Given the description of an element on the screen output the (x, y) to click on. 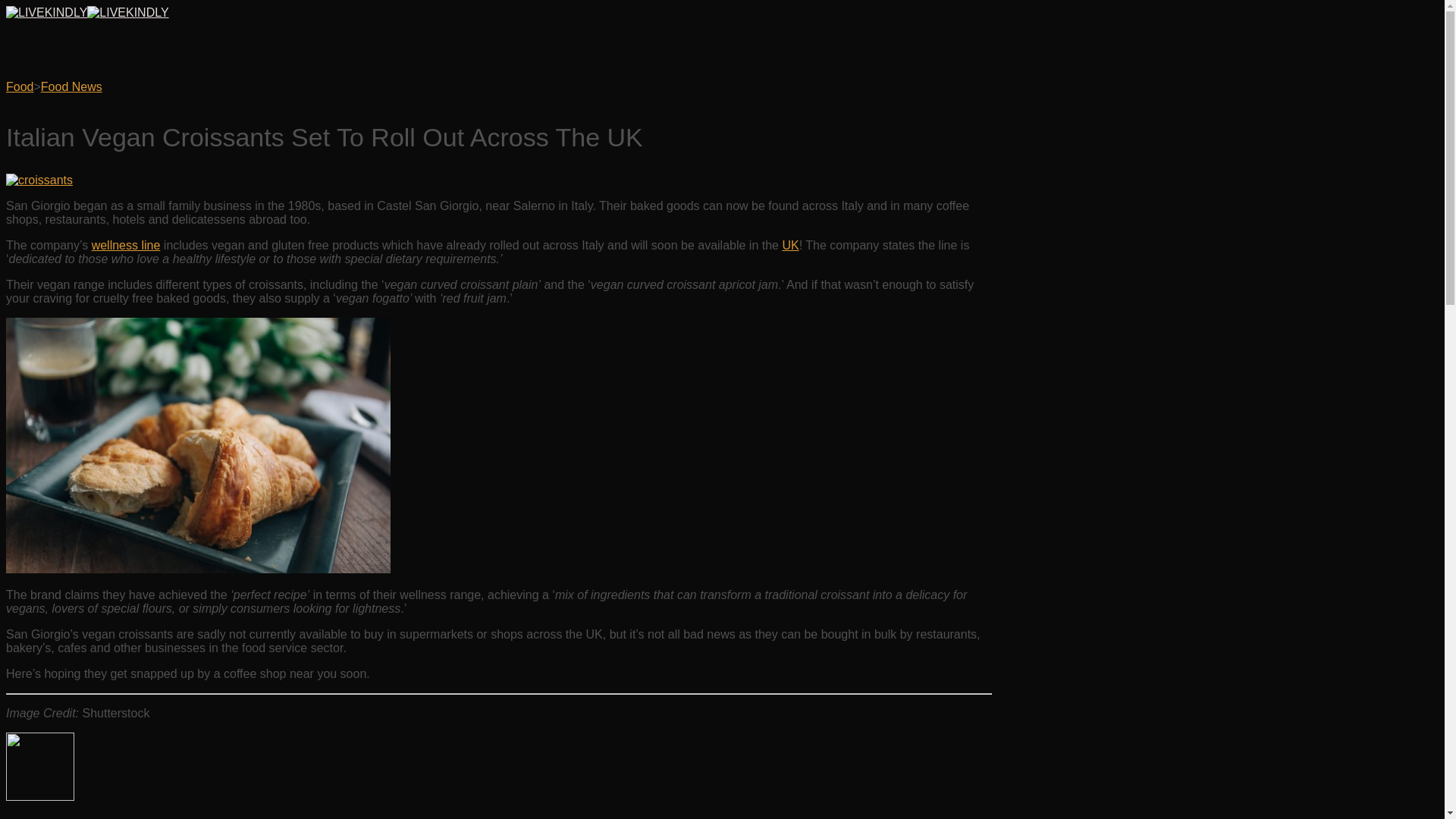
wellness line (125, 245)
Food News (70, 86)
UK (789, 245)
Food (19, 86)
LIVEKINDLY - Home of Sustainable Living (86, 11)
